Given the description of an element on the screen output the (x, y) to click on. 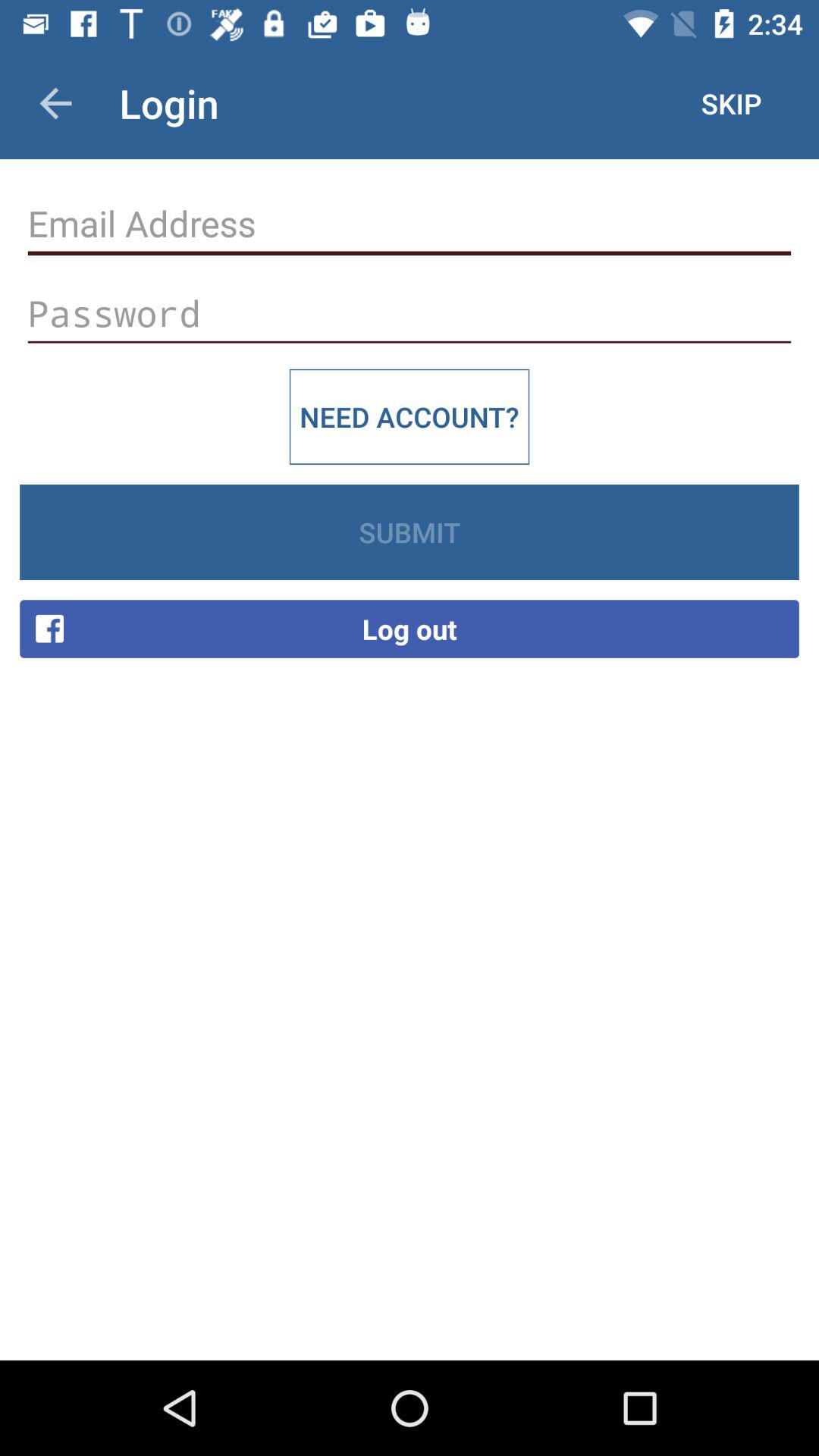
turn on item above the need account? item (409, 313)
